Given the description of an element on the screen output the (x, y) to click on. 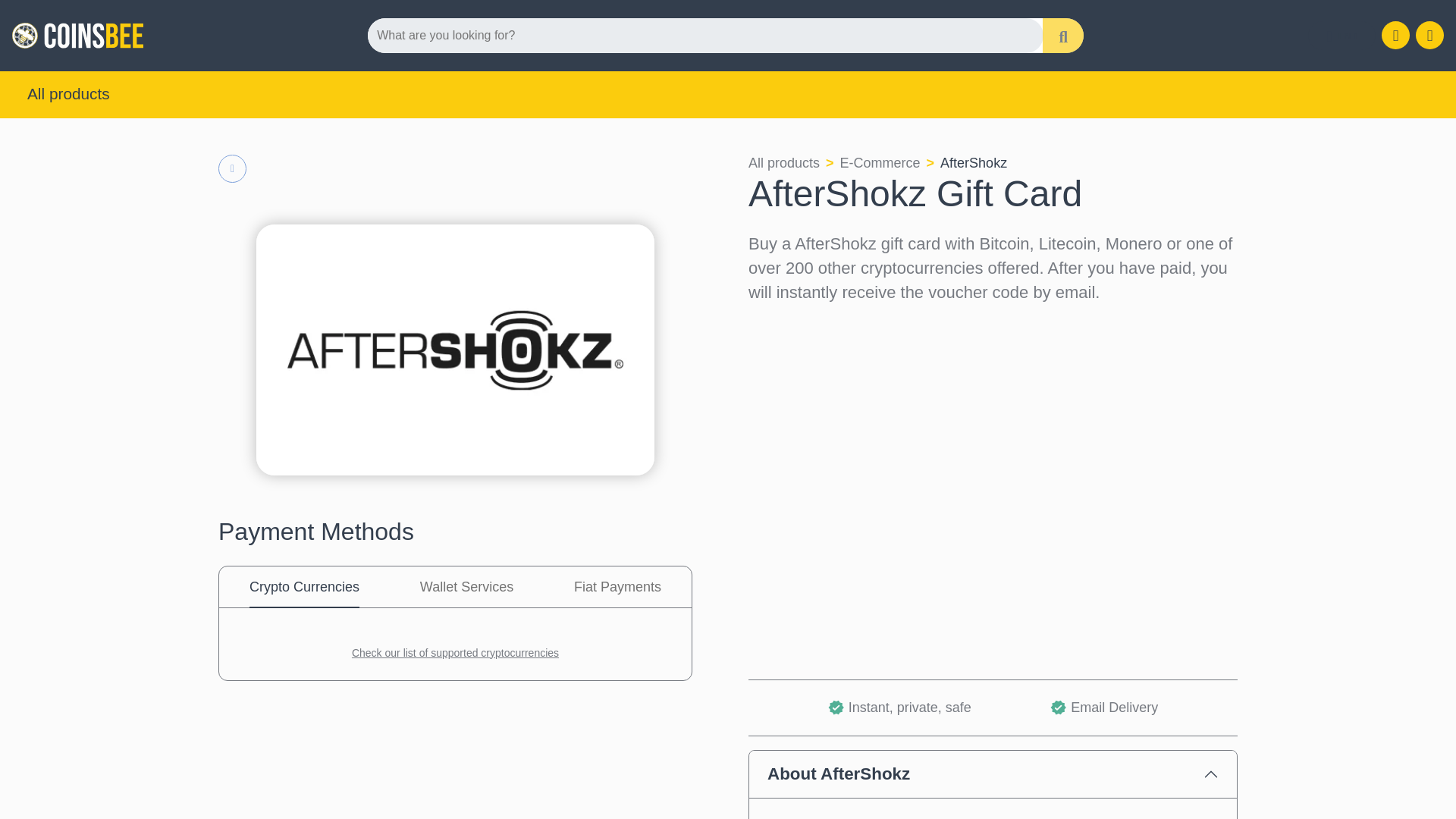
Search button (1062, 35)
EN (1341, 35)
